Given the description of an element on the screen output the (x, y) to click on. 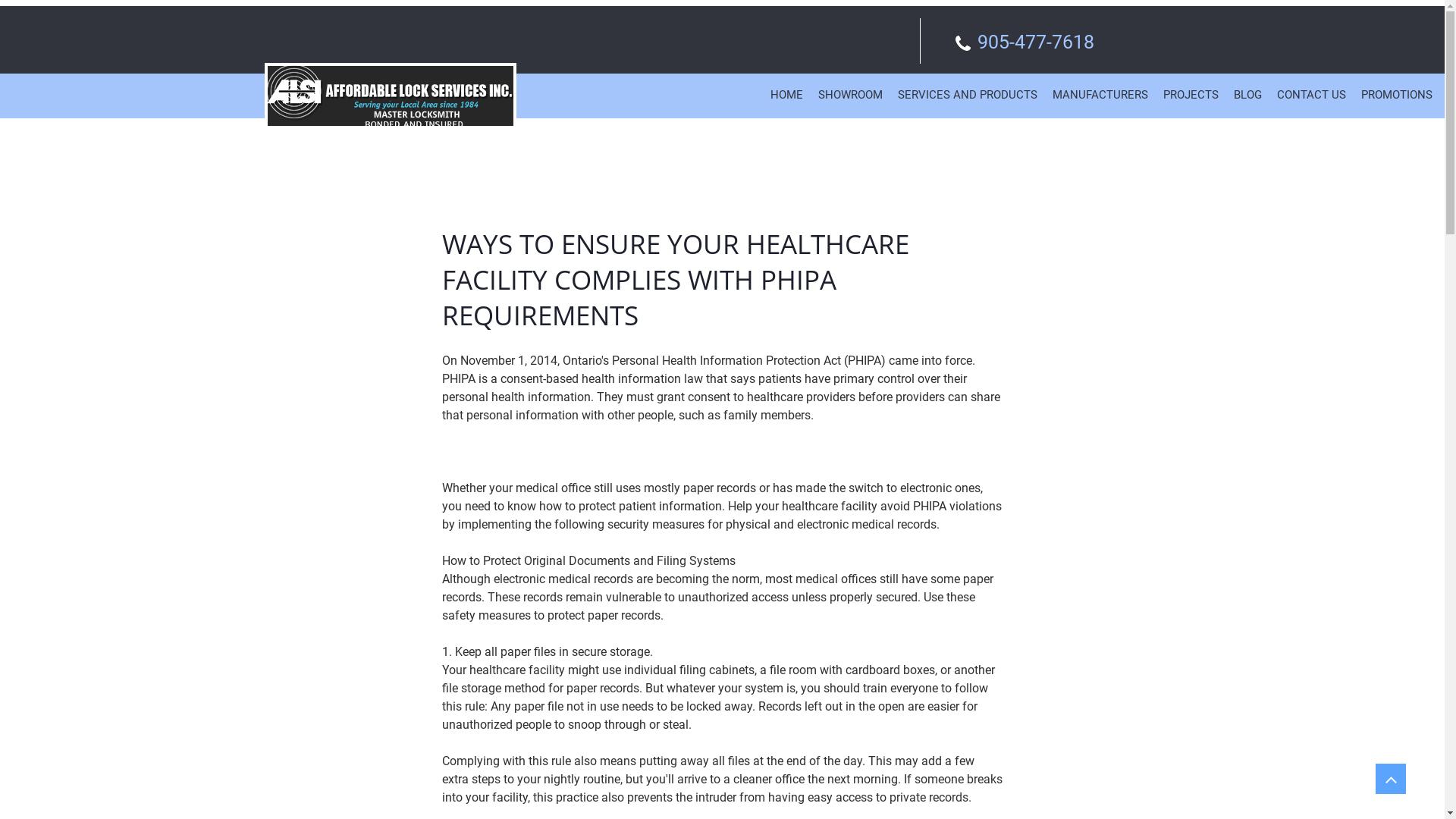
SHOWROOM Element type: text (850, 95)
HOME Element type: text (785, 95)
MANUFACTURERS Element type: text (1099, 95)
905-477-7618 Element type: text (1034, 42)
CONTACT US Element type: text (1310, 95)
BLOG Element type: text (1247, 95)
PROJECTS Element type: text (1189, 95)
SERVICES AND PRODUCTS Element type: text (966, 95)
PROMOTIONS Element type: text (1396, 95)
